Given the description of an element on the screen output the (x, y) to click on. 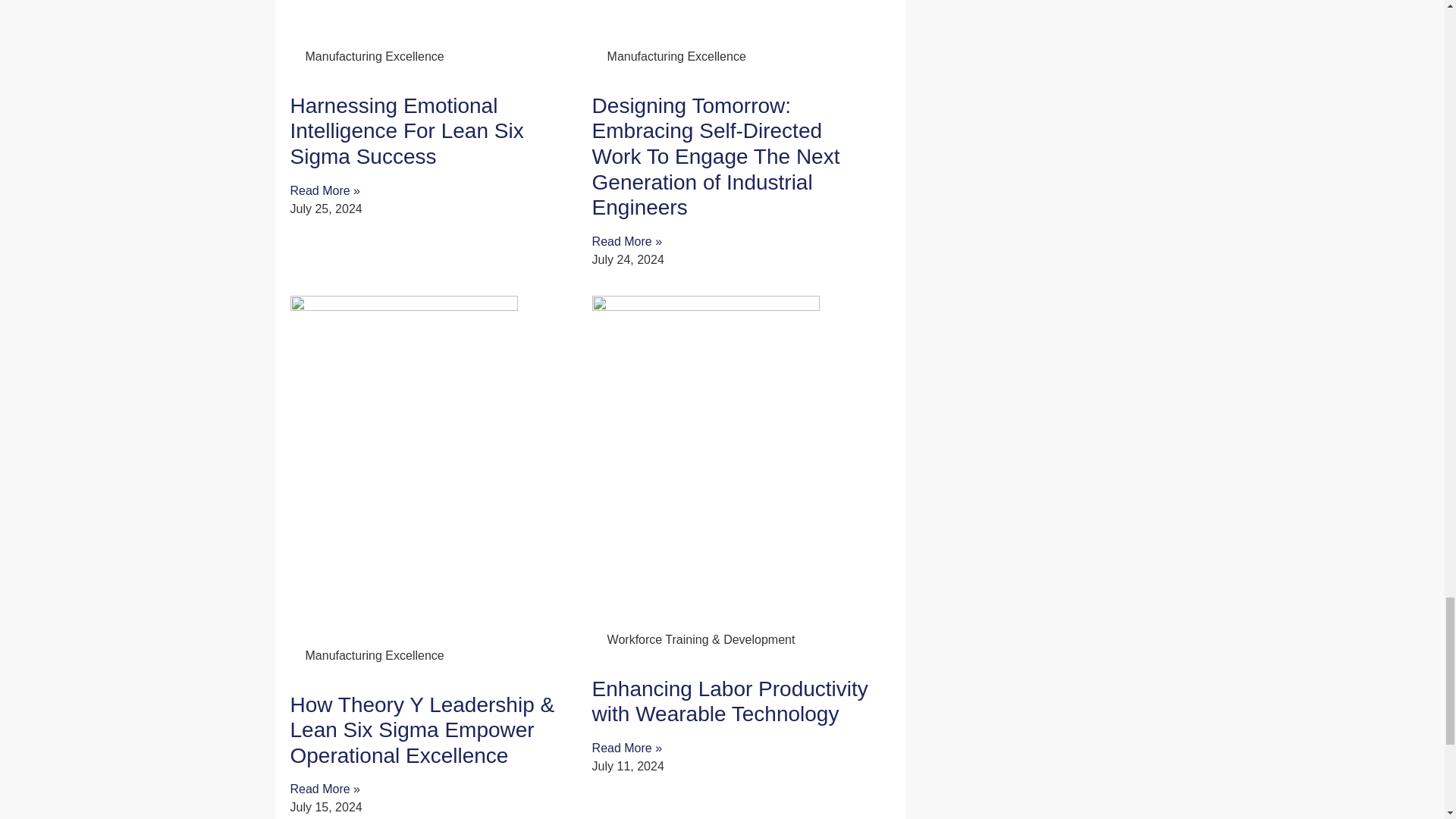
Enhancing Labor Productivity with Wearable Technology (729, 701)
Harnessing Emotional Intelligence For Lean Six Sigma Success (405, 131)
